Given the description of an element on the screen output the (x, y) to click on. 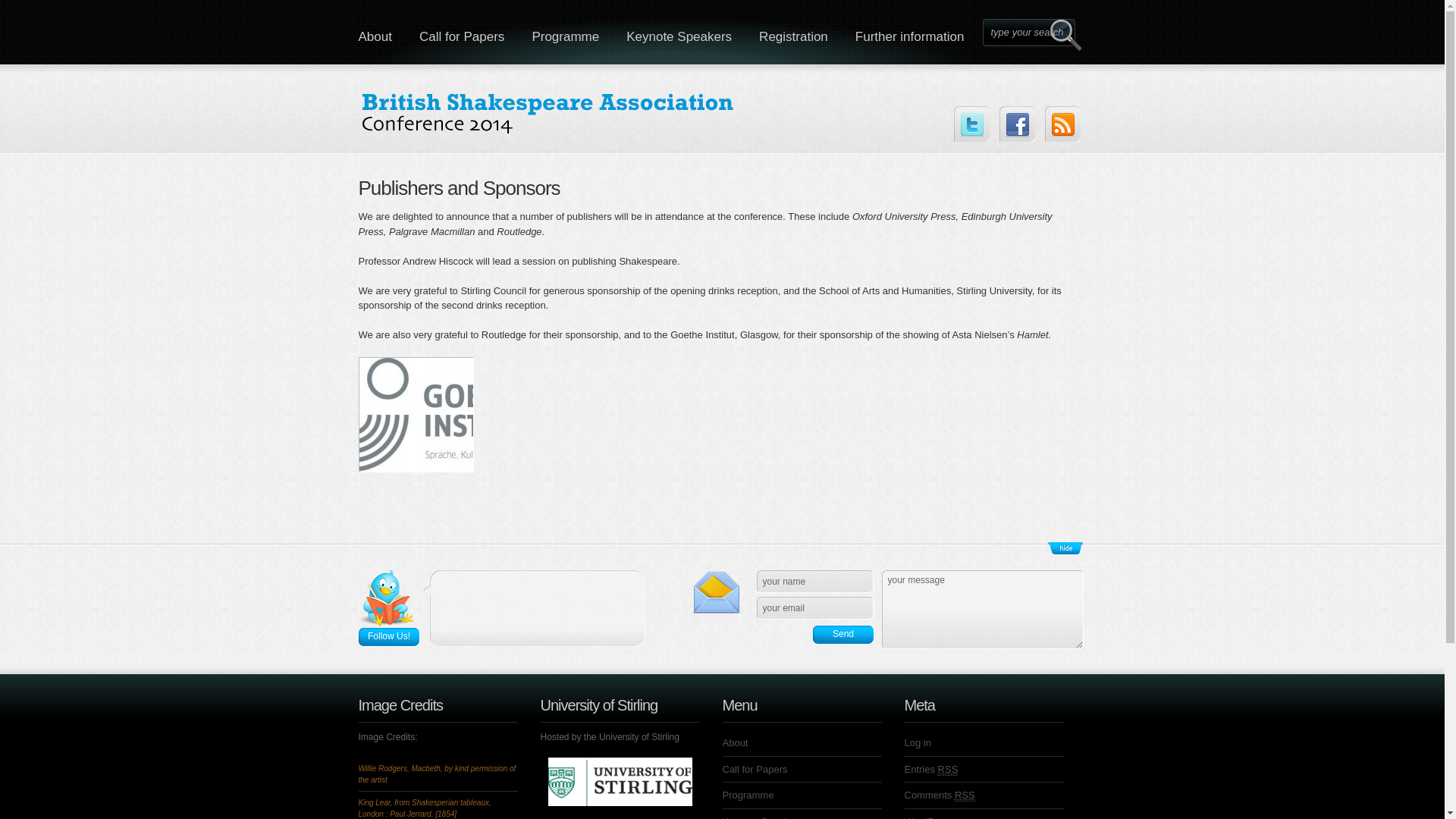
About (373, 32)
your name (815, 581)
Registration (793, 32)
British Shakespeare Association Conference 2014 (547, 115)
Join Us on Facebook! (1016, 123)
Comments RSS (939, 795)
WordPress.org (936, 817)
Call for Papers (462, 32)
Follow Us! (388, 637)
Follow Us on Twitter! (971, 123)
Send (843, 634)
Call for Papers (754, 767)
Really Simple Syndication (947, 768)
Really Simple Syndication (965, 795)
